Given the description of an element on the screen output the (x, y) to click on. 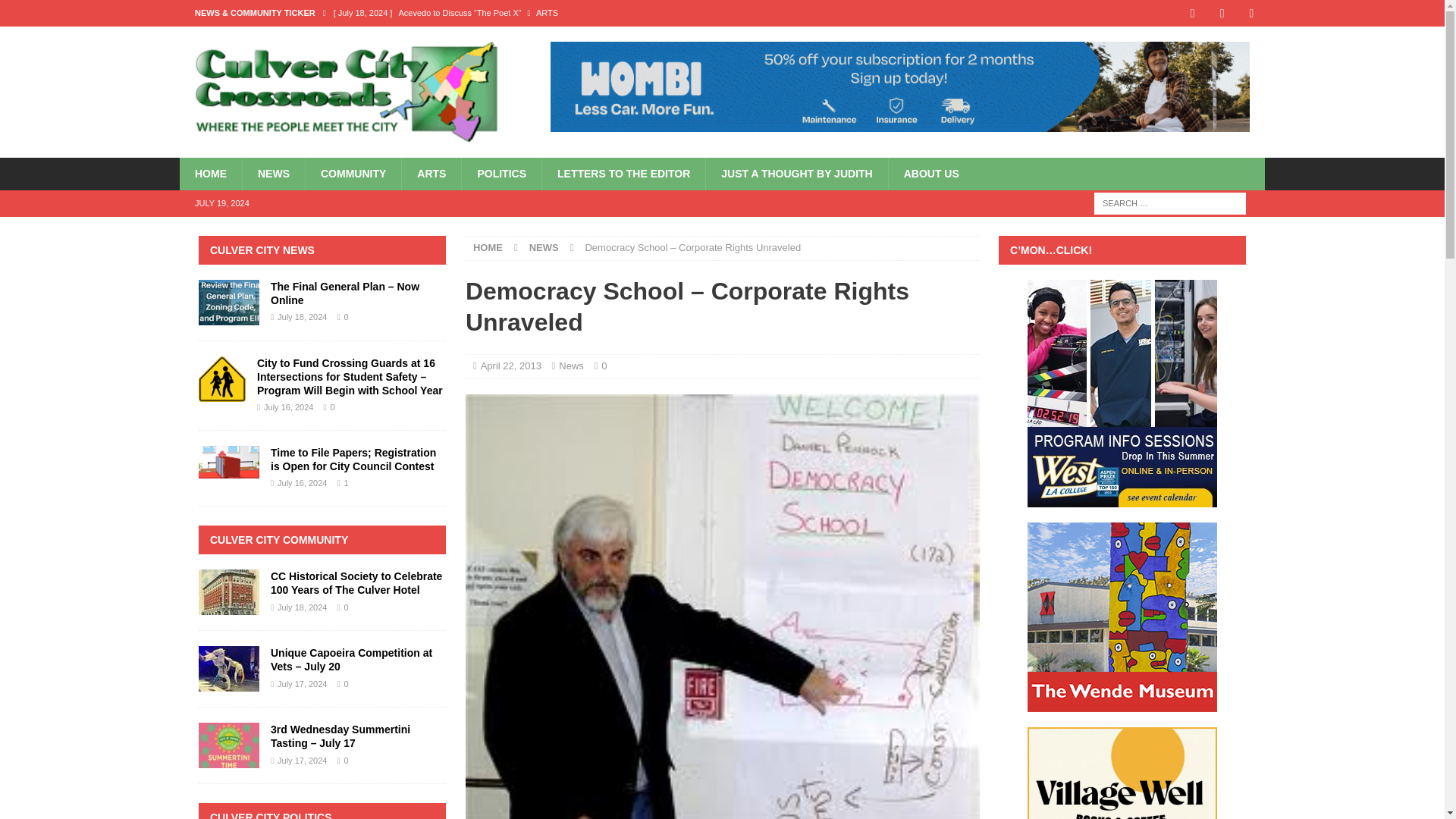
NEWS (272, 173)
News (571, 365)
ABOUT US (931, 173)
HOME (210, 173)
ARTS (431, 173)
JUST A THOUGHT BY JUDITH (795, 173)
COMMUNITY (352, 173)
April 22, 2013 (510, 365)
NEWS (544, 247)
HOME (487, 247)
LETTERS TO THE EDITOR (622, 173)
POLITICS (501, 173)
Search (56, 11)
